Given the description of an element on the screen output the (x, y) to click on. 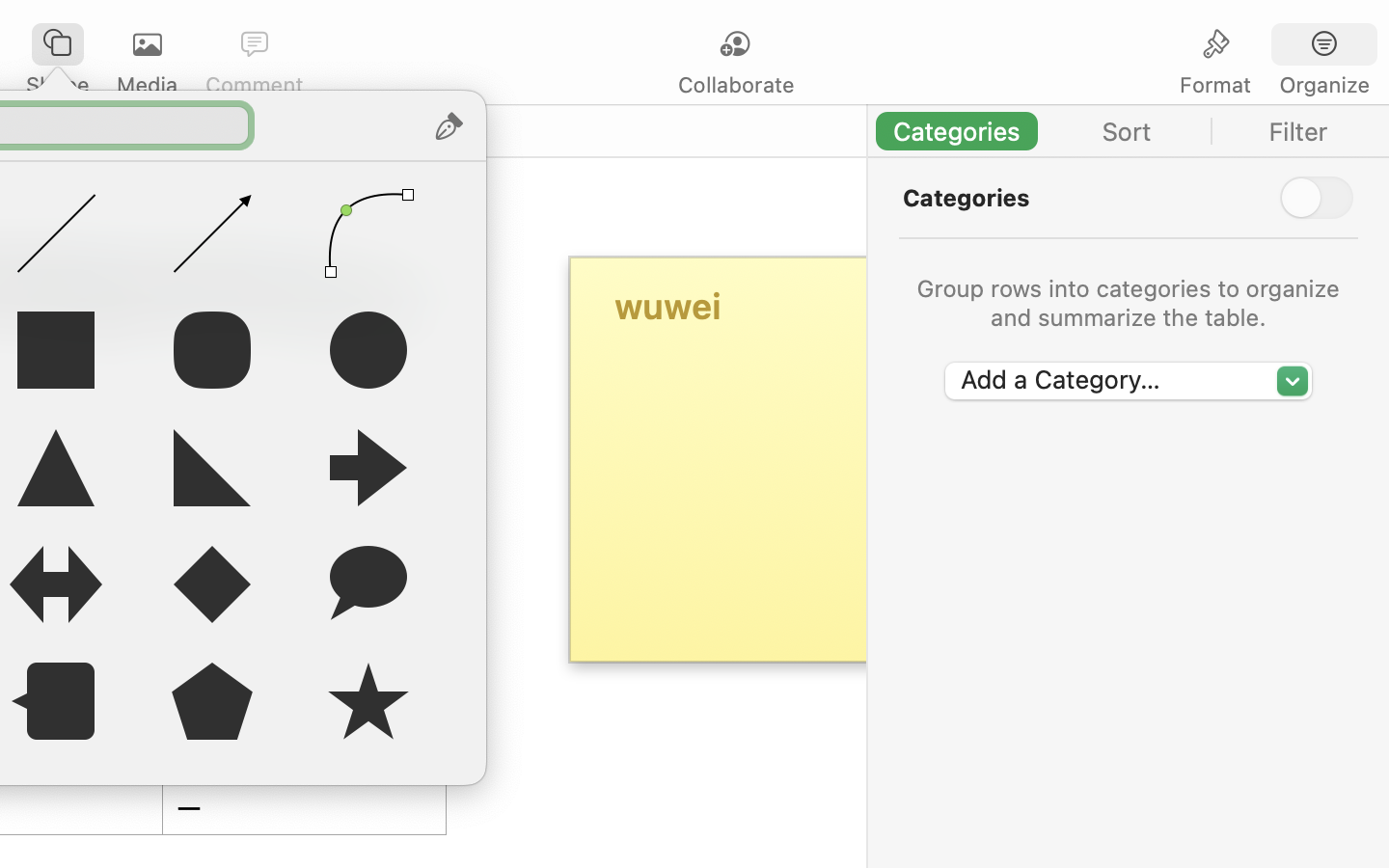
<AXUIElement 0x28097ffe0> {pid=1420} Element type: AXRadioGroup (1128, 131)
<AXUIElement 0x283466660> {pid=1420} Element type: AXGroup (1270, 45)
Organize Element type: AXStaticText (1323, 84)
